Given the description of an element on the screen output the (x, y) to click on. 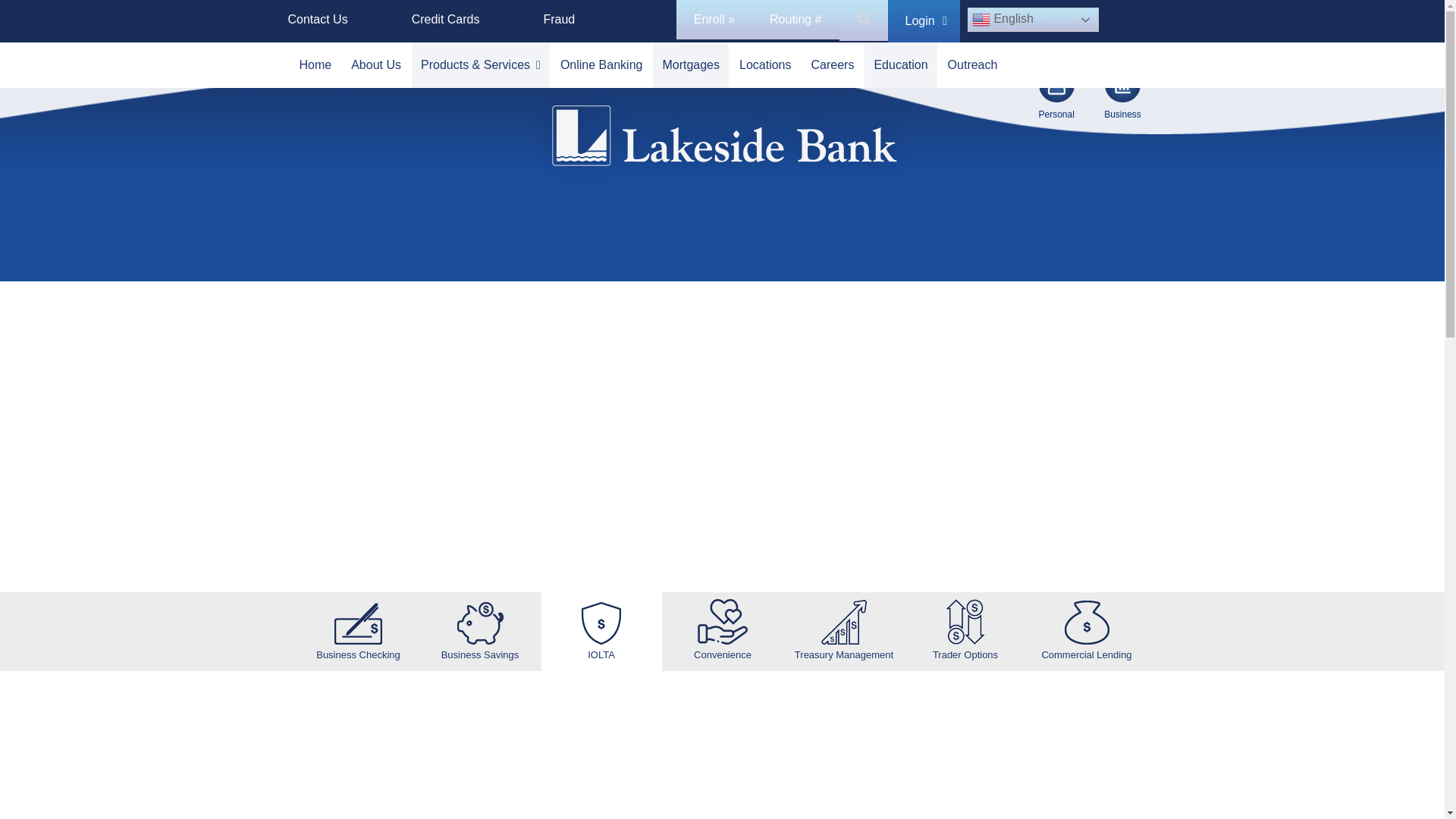
Online Banking (601, 64)
Outreach (973, 64)
Contact Us (317, 19)
Mortgages (690, 64)
Locations (765, 64)
Credit Cards (446, 19)
Education (900, 64)
Home (314, 64)
English (1033, 19)
Careers (832, 64)
Login (923, 21)
Fraud (558, 19)
About Us (376, 64)
